Given the description of an element on the screen output the (x, y) to click on. 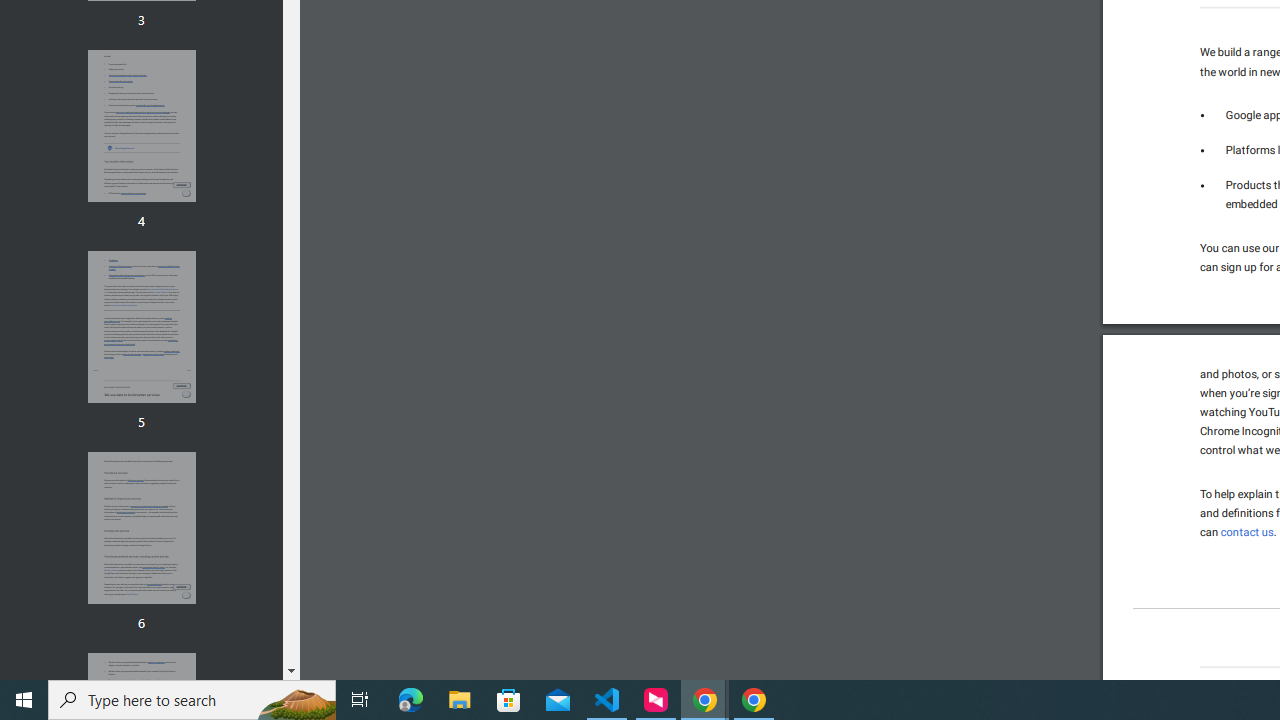
contact us (1246, 531)
Thumbnail for page 4 (141, 125)
AutomationID: thumbnail (141, 528)
Thumbnail for page 6 (141, 528)
Thumbnail for page 5 (141, 326)
